Given the description of an element on the screen output the (x, y) to click on. 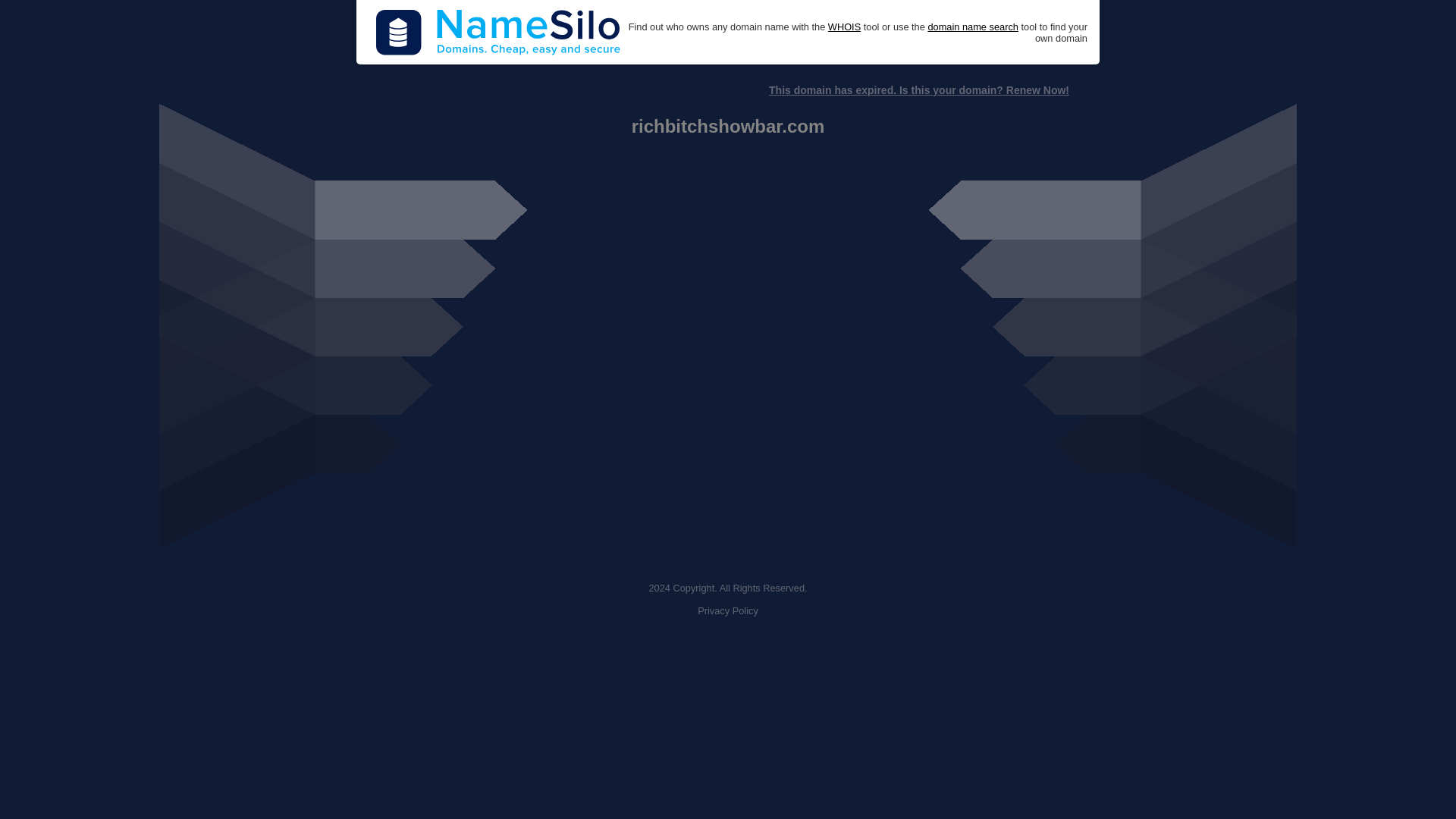
domain name search (972, 26)
Privacy Policy (727, 610)
This domain has expired. Is this your domain? Renew Now! (918, 90)
WHOIS (844, 26)
